Given the description of an element on the screen output the (x, y) to click on. 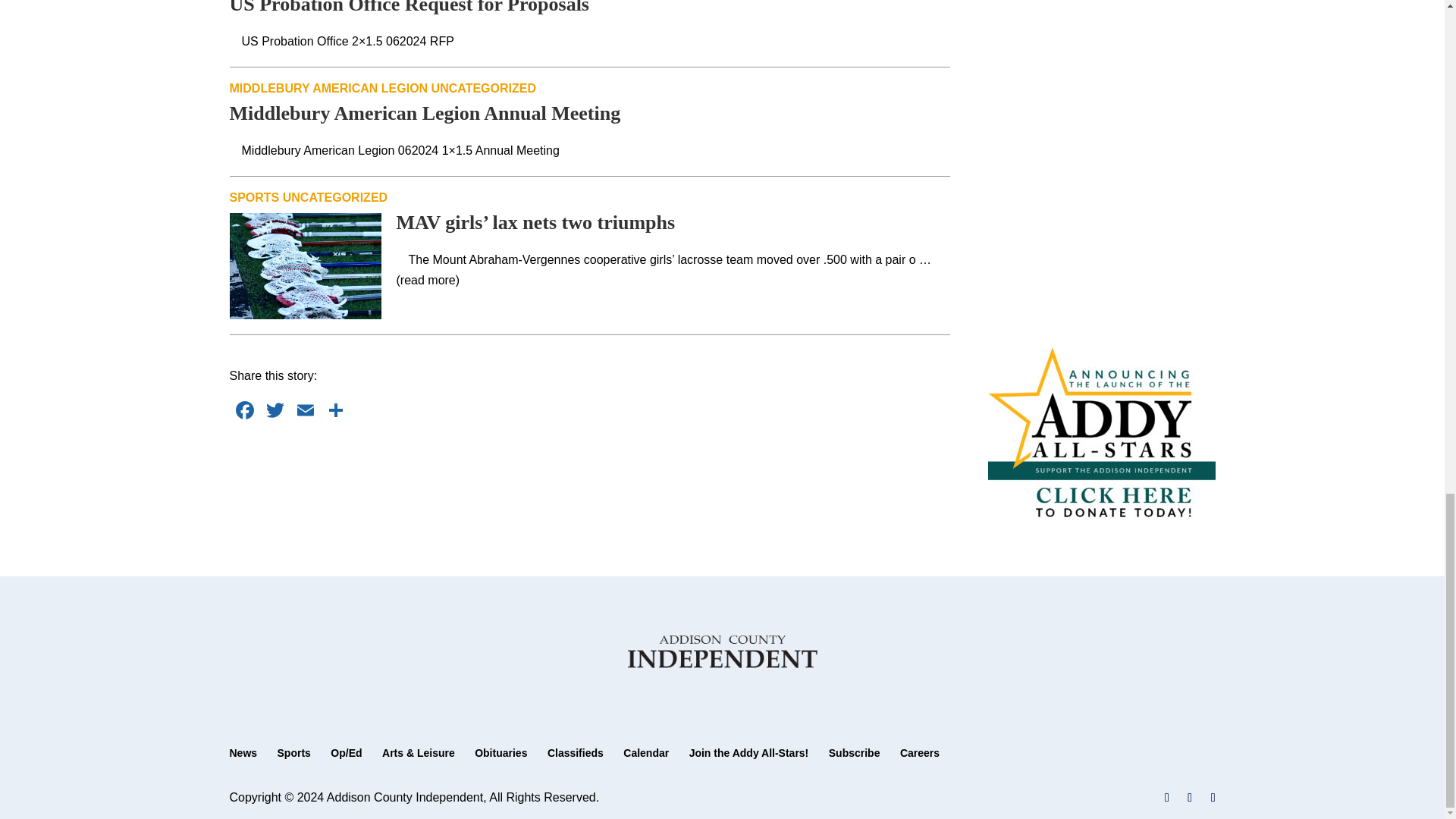
Facebook (243, 411)
Twitter (274, 411)
3rd party ad content (590, 472)
Email (304, 411)
